Given the description of an element on the screen output the (x, y) to click on. 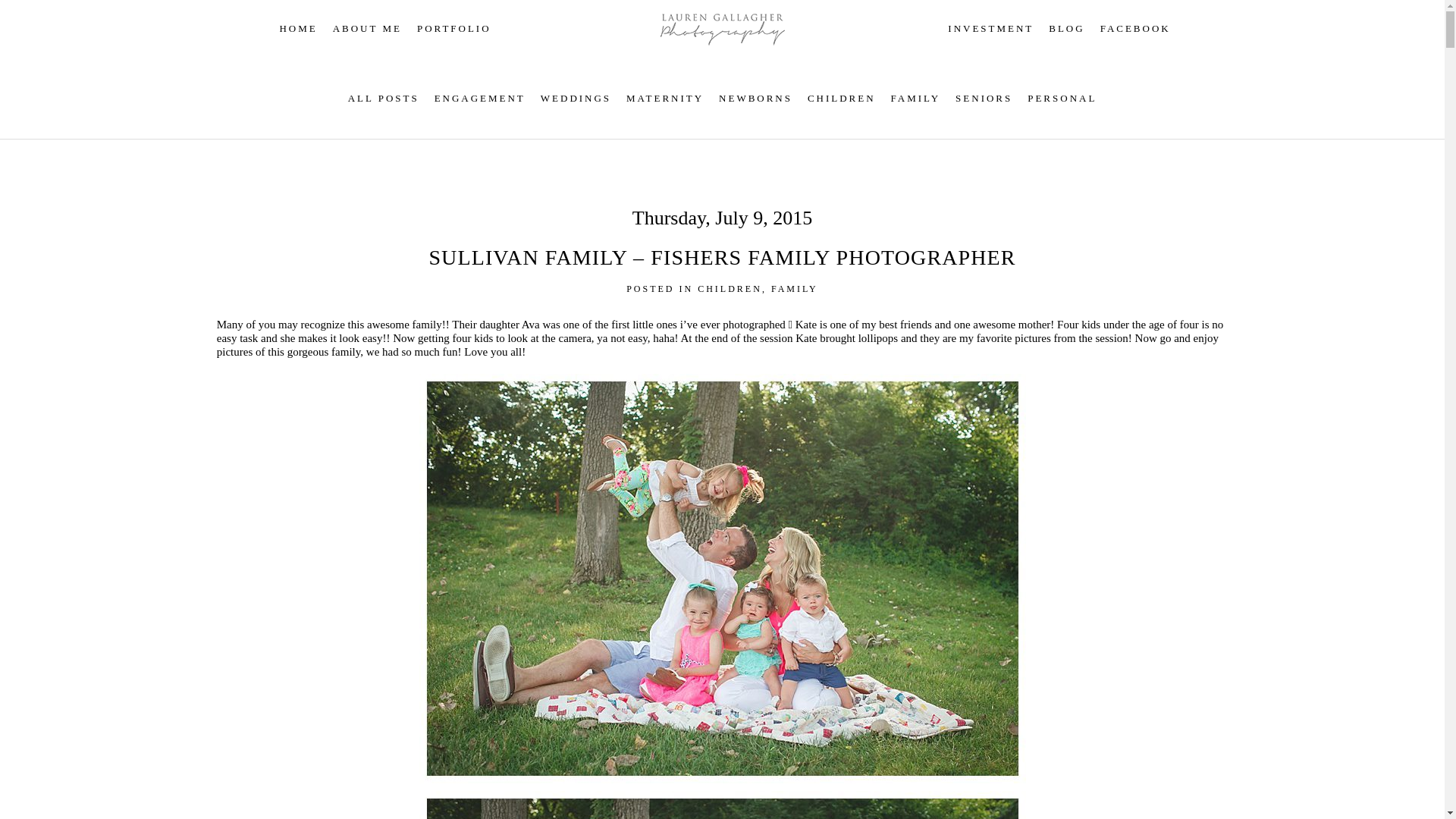
NEWBORNS (755, 98)
PORTFOLIO (454, 28)
CHILDREN (842, 98)
FAMILY (794, 288)
CHILDREN (729, 288)
MATERNITY (664, 98)
ALL POSTS (383, 98)
INVESTMENT (990, 28)
FACEBOOK (1135, 28)
WEDDINGS (575, 98)
BLOG (1066, 28)
ABOUT ME (367, 28)
HOME (298, 28)
SENIORS (983, 98)
PERSONAL (1061, 98)
